Given the description of an element on the screen output the (x, y) to click on. 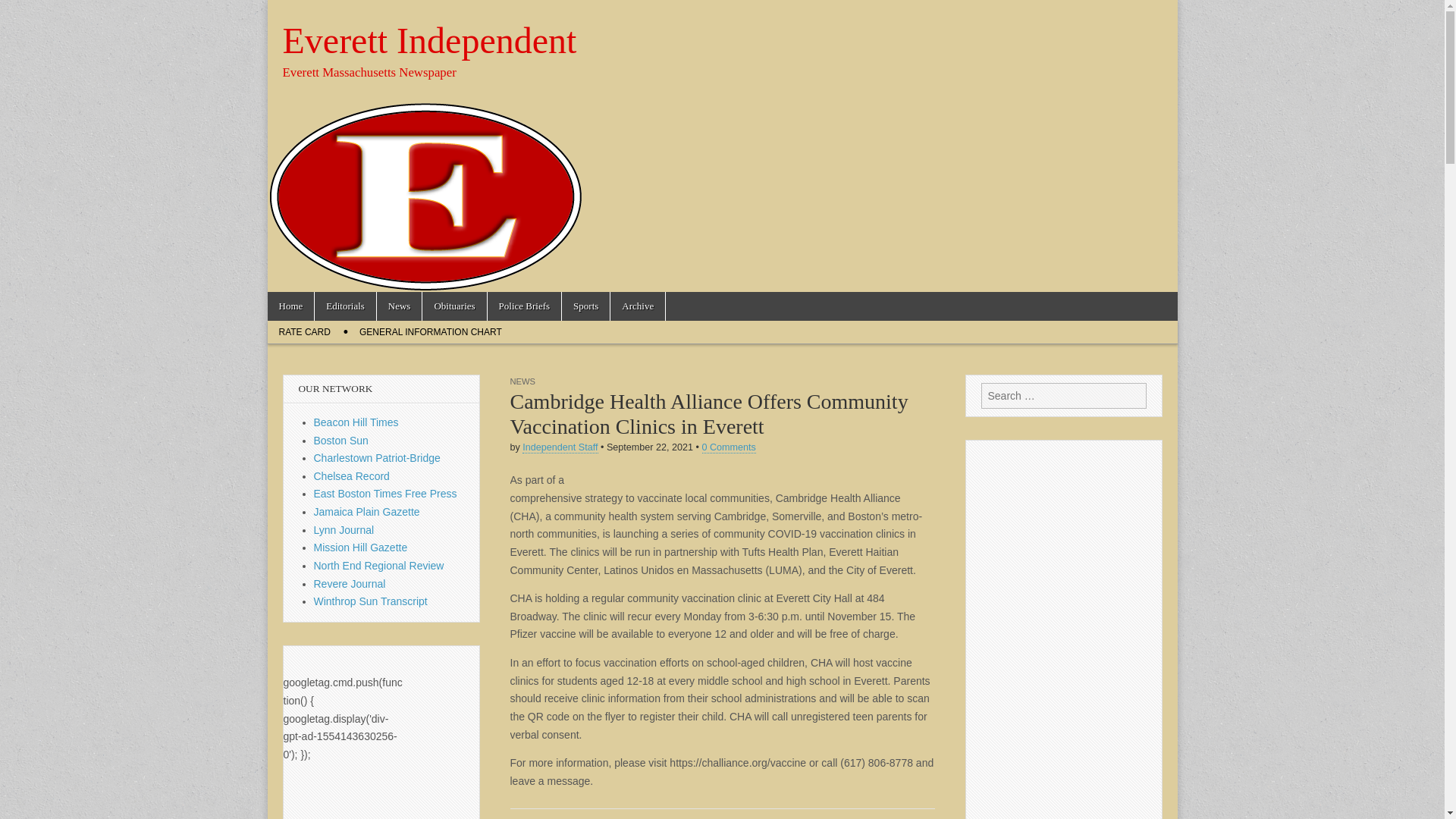
Lynn Journal (344, 530)
North End Regional Review (379, 565)
NEWS (522, 380)
Beacon Hill Times (356, 422)
Home (290, 306)
Obituaries (454, 306)
0 Comments (728, 447)
Mission Hill Gazette (360, 547)
Sports (586, 306)
News (399, 306)
Police Briefs (524, 306)
Chelsea Record (352, 476)
